Given the description of an element on the screen output the (x, y) to click on. 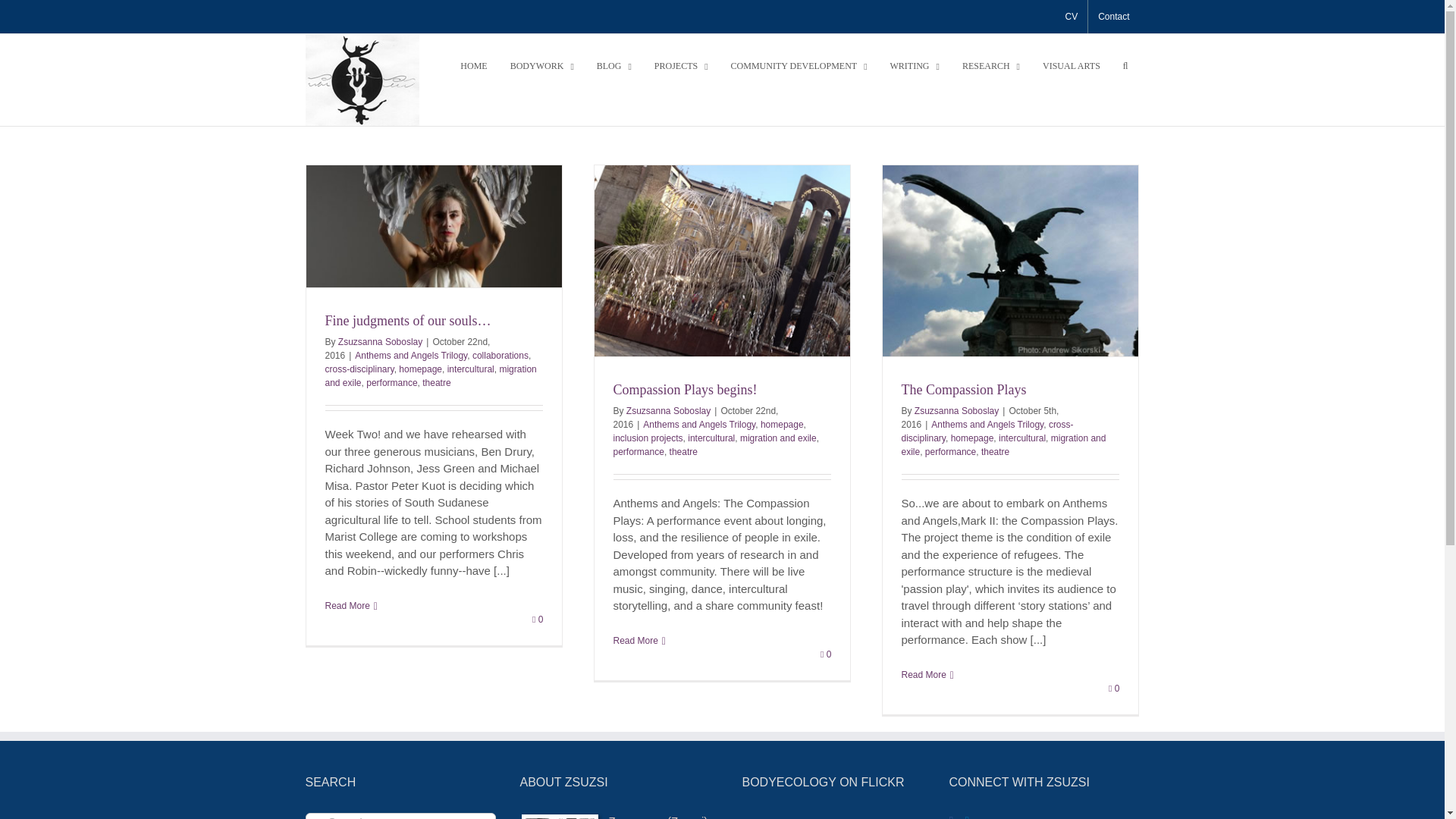
Contact (1112, 16)
BLOG (614, 65)
CV (1070, 16)
Posts by Zsuzsanna Soboslay (956, 410)
Posts by Zsuzsanna Soboslay (379, 341)
BODYWORK (542, 65)
PROJECTS (681, 65)
Posts by Zsuzsanna Soboslay (668, 410)
WRITING (914, 65)
COMMUNITY DEVELOPMENT (799, 65)
